Given the description of an element on the screen output the (x, y) to click on. 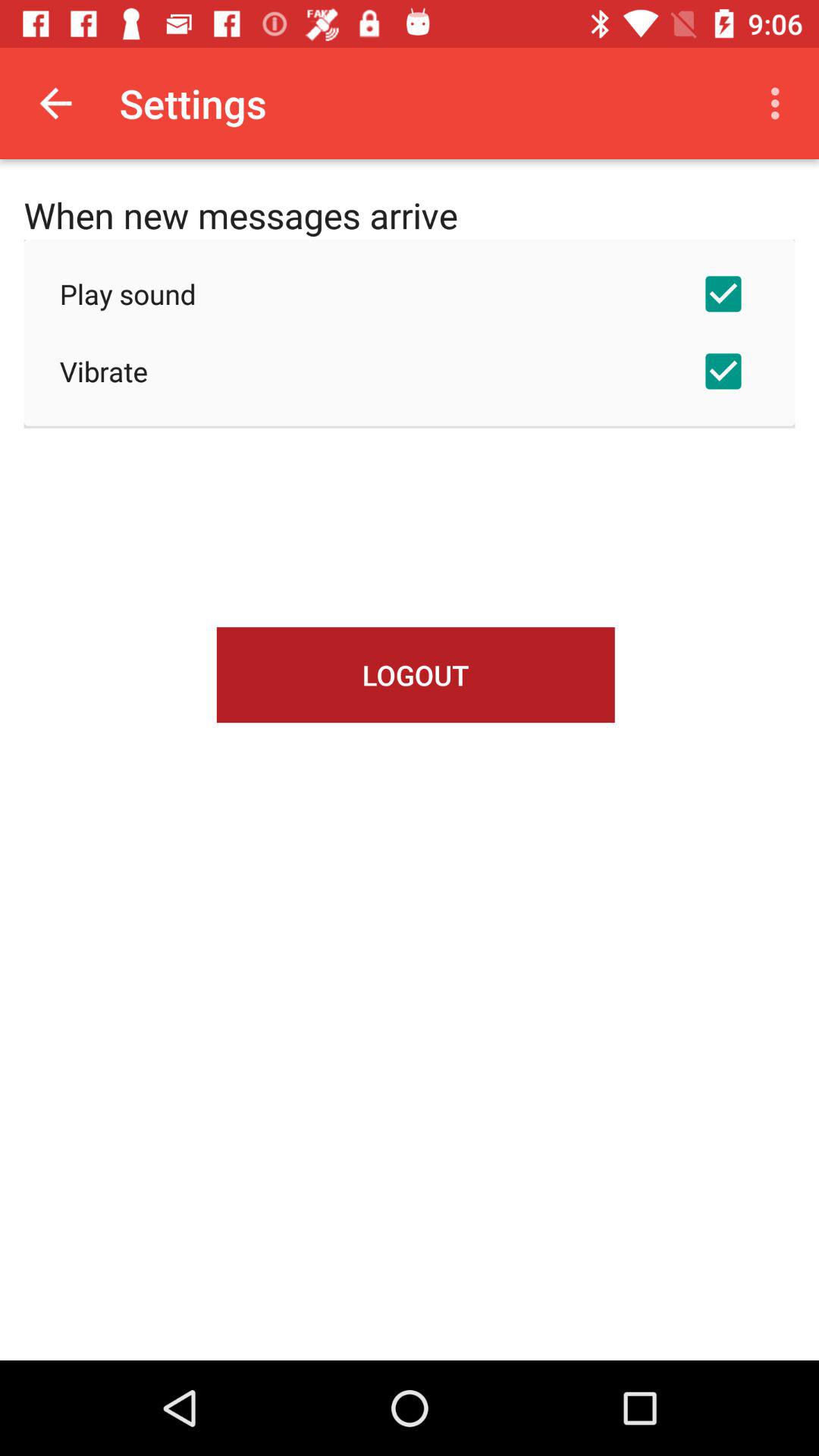
select item above the play sound item (779, 103)
